Given the description of an element on the screen output the (x, y) to click on. 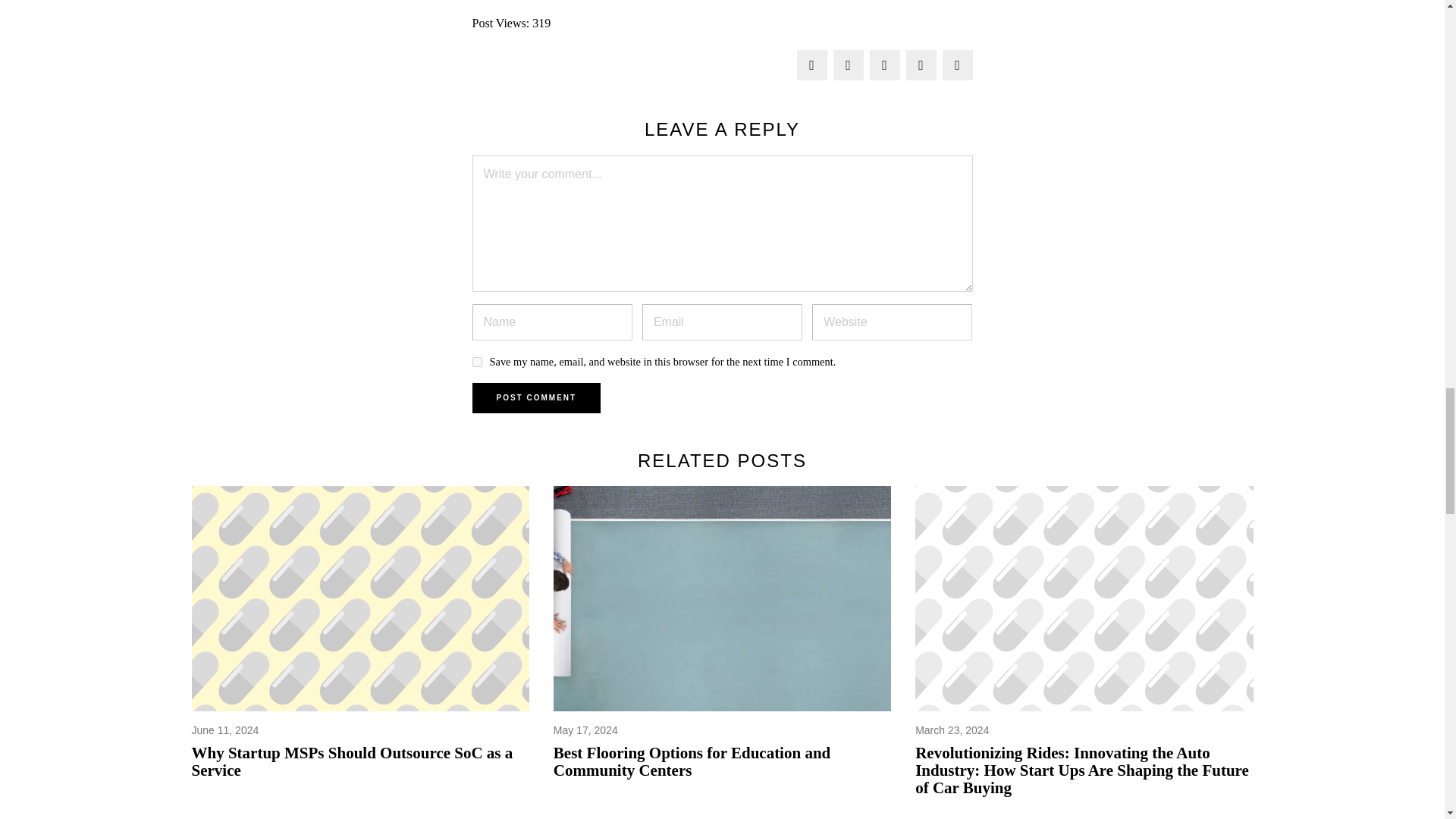
Post Comment (535, 398)
23 Mar, 2024 13:51:52 (951, 730)
yes (476, 361)
11 Jun, 2024 22:41:26 (224, 730)
17 May, 2024 19:03:00 (585, 730)
